Given the description of an element on the screen output the (x, y) to click on. 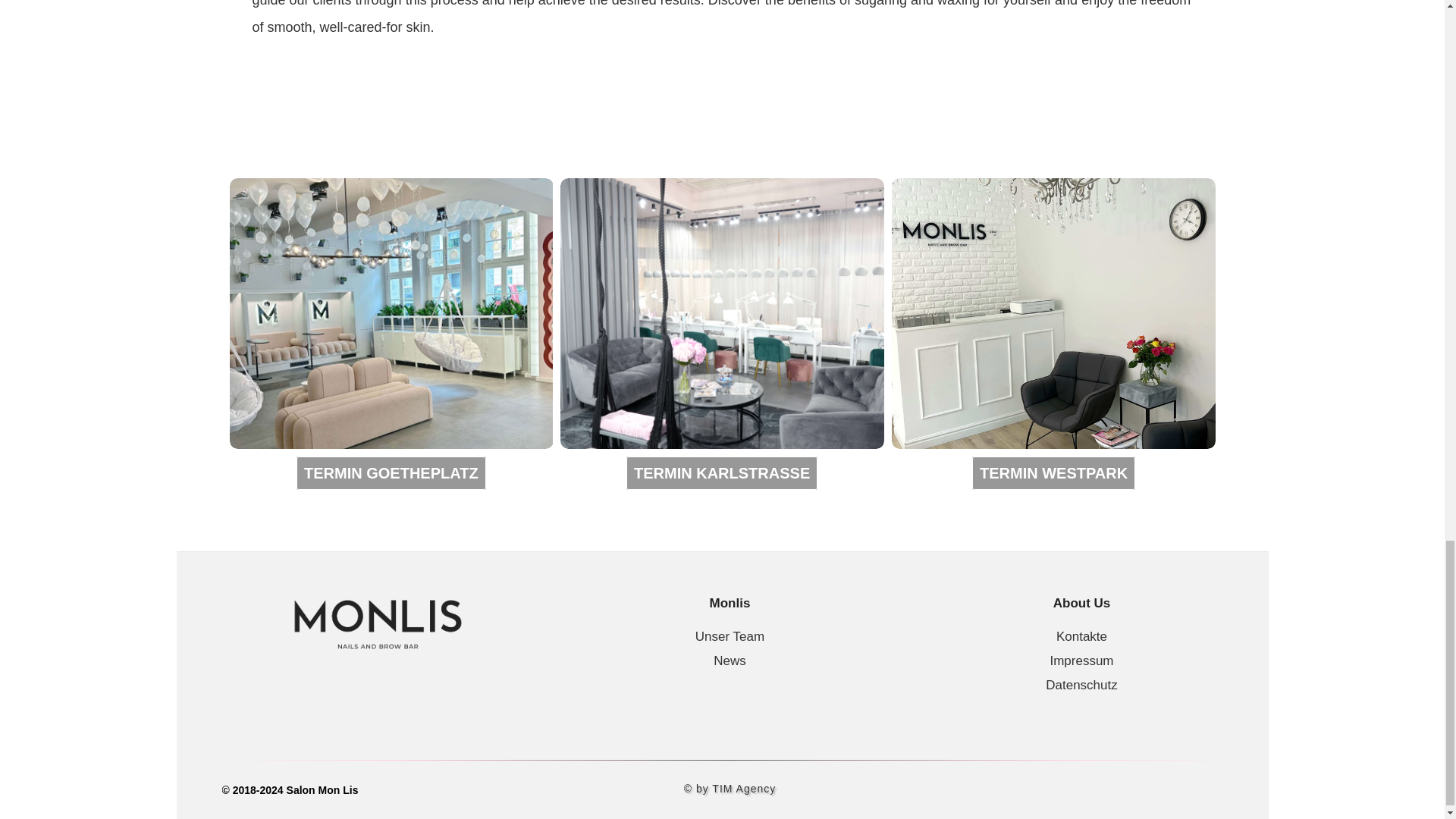
TERMIN WESTPARK (1053, 472)
Impressum (1081, 660)
Datenschutz (1081, 685)
TERMIN GOETHEPLATZ (391, 472)
Unser Team (729, 636)
Kontakte (1081, 636)
TERMIN KARLSTRASSE (721, 472)
News (729, 660)
